Given the description of an element on the screen output the (x, y) to click on. 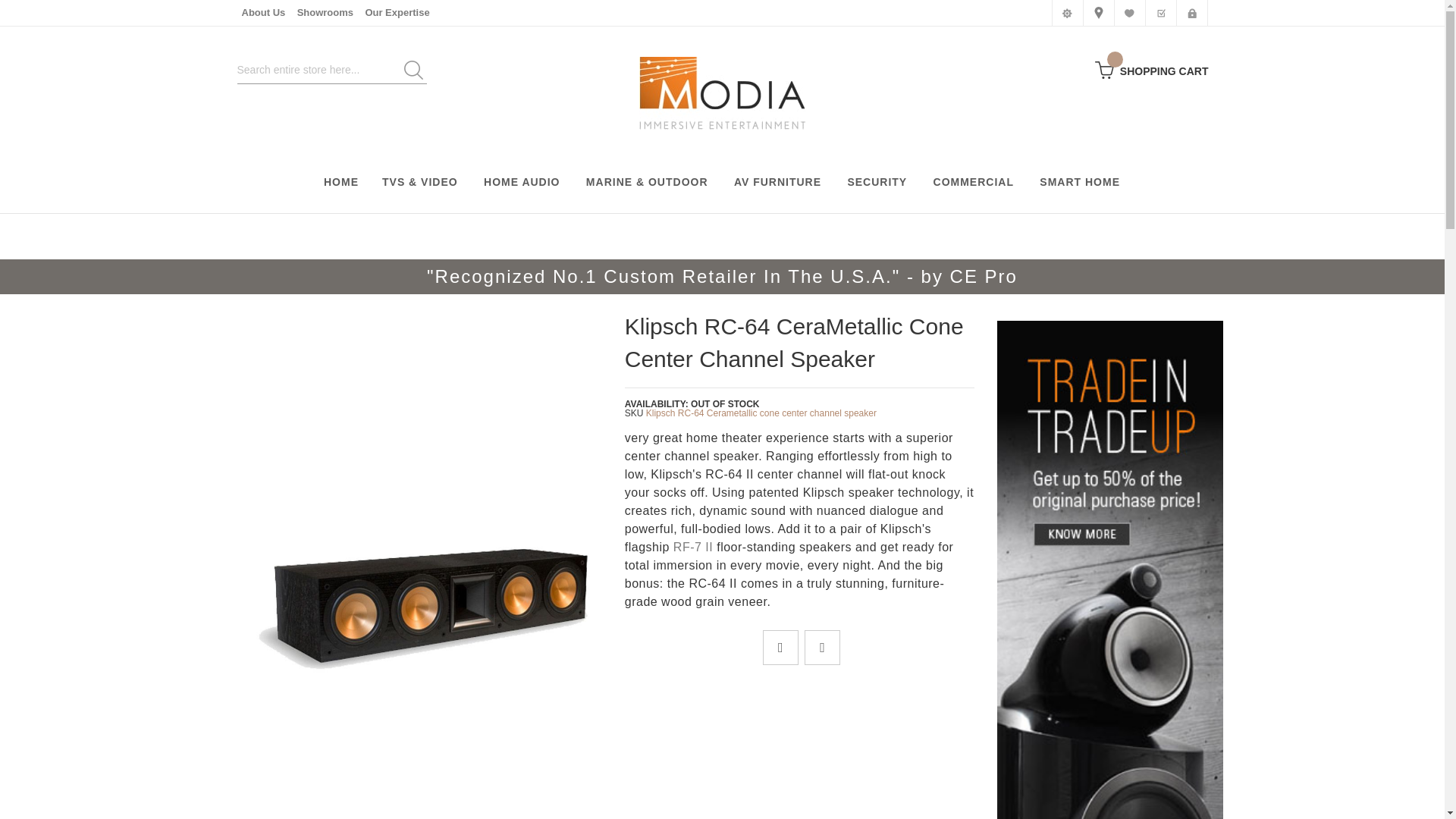
Showrooms (325, 12)
Modia (722, 92)
SEARCH (413, 69)
My Wish List (1128, 12)
Locations (1098, 12)
About Us (263, 12)
Search (413, 69)
Our Expertise (397, 12)
Availability (692, 403)
Checkout (1160, 12)
